Given the description of an element on the screen output the (x, y) to click on. 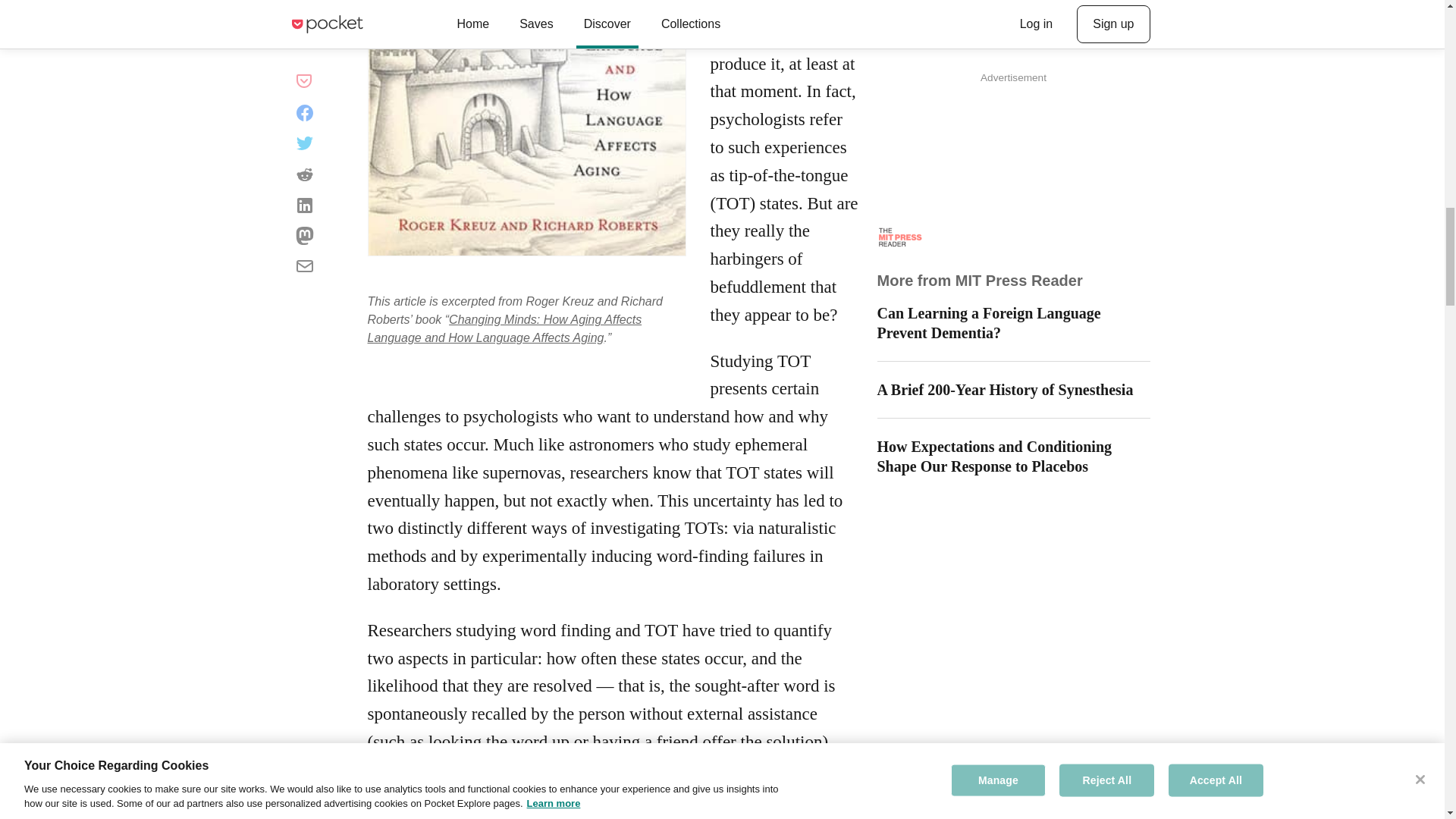
A Brief 200-Year History of Synesthesia (1013, 389)
Can Learning a Foreign Language Prevent Dementia? (1013, 323)
